Given the description of an element on the screen output the (x, y) to click on. 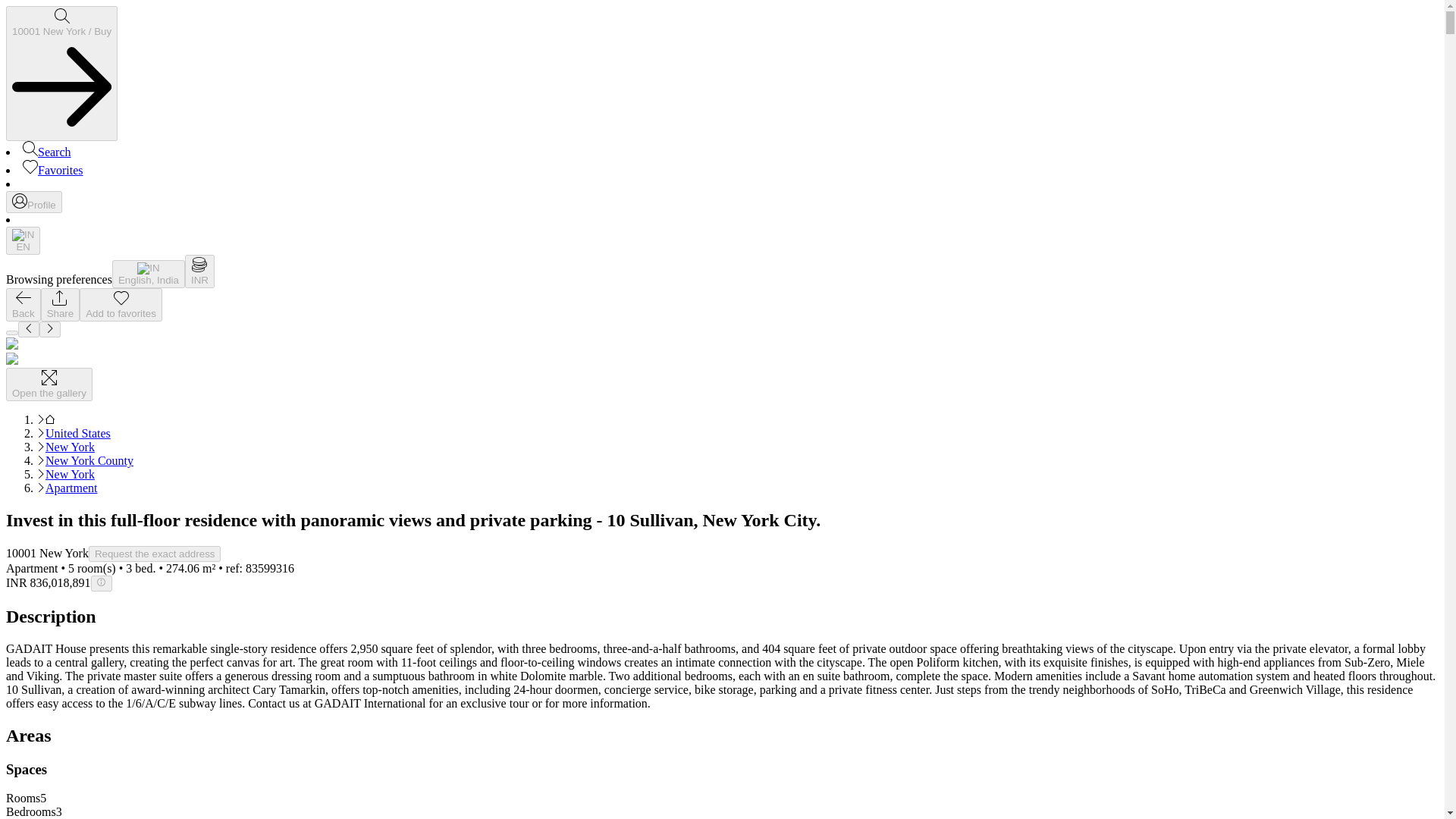
New York (69, 473)
English, India (148, 274)
New York (69, 446)
Search (47, 151)
Request the exact address (154, 553)
Share (60, 304)
EN (22, 240)
Profile (33, 201)
Apartment (71, 487)
Open the gallery (49, 384)
United States (77, 432)
New York County (89, 460)
Add to favorites (120, 304)
Favorites (52, 169)
Back (22, 304)
